Given the description of an element on the screen output the (x, y) to click on. 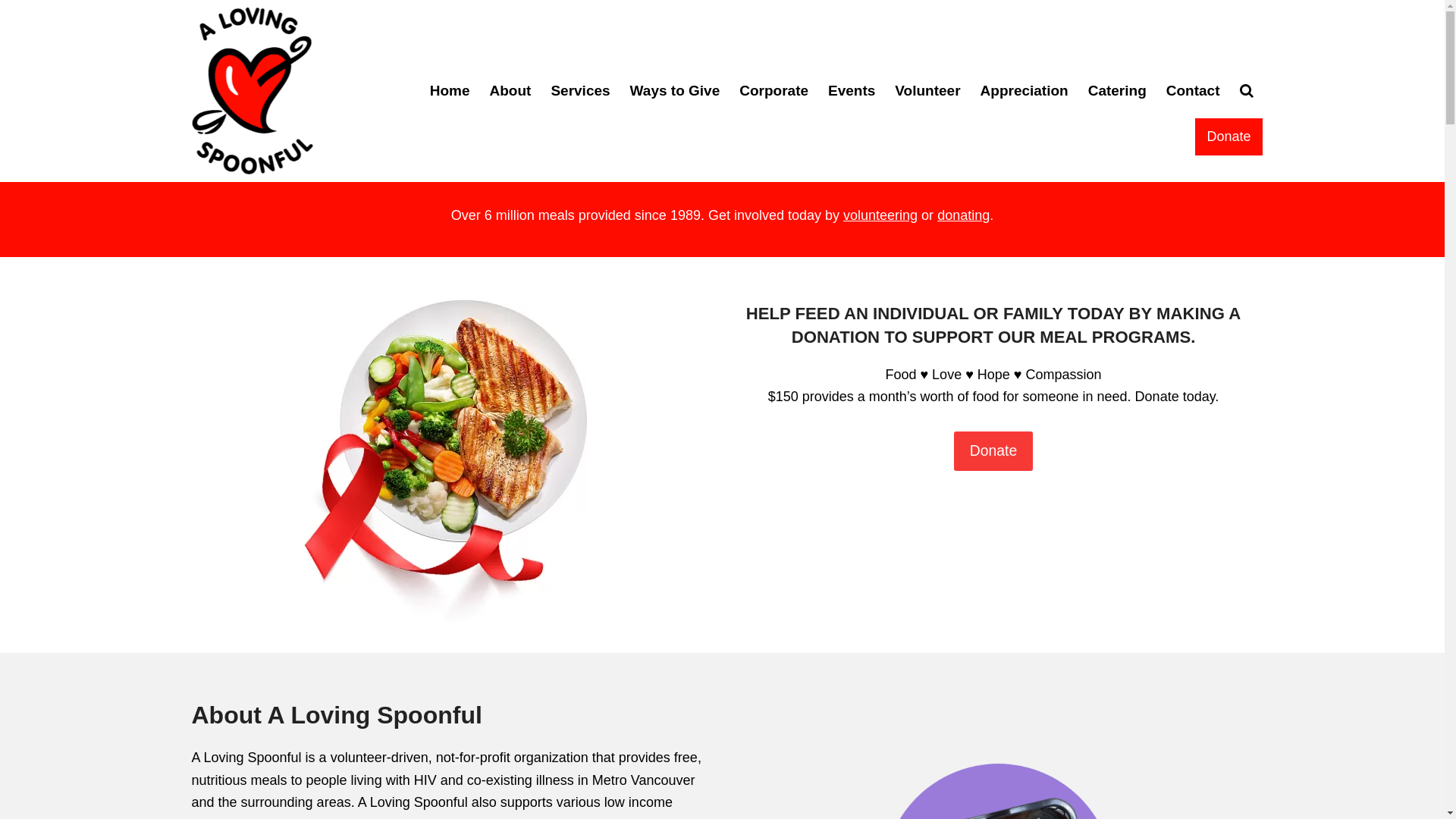
Ways to Give Element type: text (675, 90)
About Element type: text (510, 90)
volunteering Element type: text (880, 214)
Appreciation Element type: text (1024, 90)
plateribbon Element type: hover (450, 450)
Events Element type: text (851, 90)
Volunteer Element type: text (926, 90)
Donate Element type: text (992, 451)
Contact Element type: text (1193, 90)
donating Element type: text (963, 214)
Corporate Element type: text (773, 90)
Donate Element type: text (1228, 136)
Home Element type: text (450, 90)
Catering Element type: text (1117, 90)
Services Element type: text (579, 90)
